Given the description of an element on the screen output the (x, y) to click on. 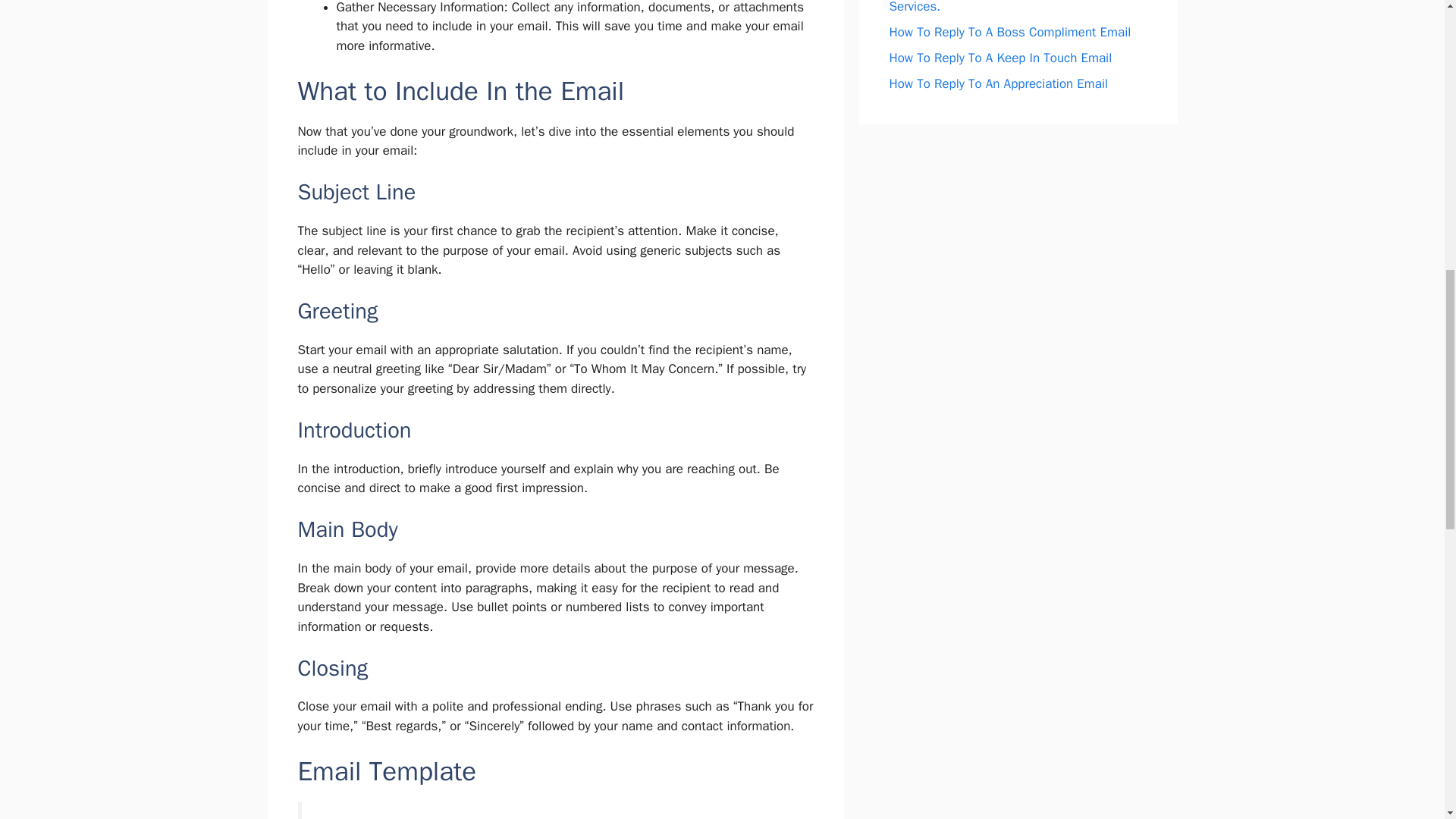
How To Reply To A Keep In Touch Email (1000, 57)
How To Reply To A Boss Compliment Email (1009, 32)
How To Reply To An Appreciation Email (998, 83)
